Given the description of an element on the screen output the (x, y) to click on. 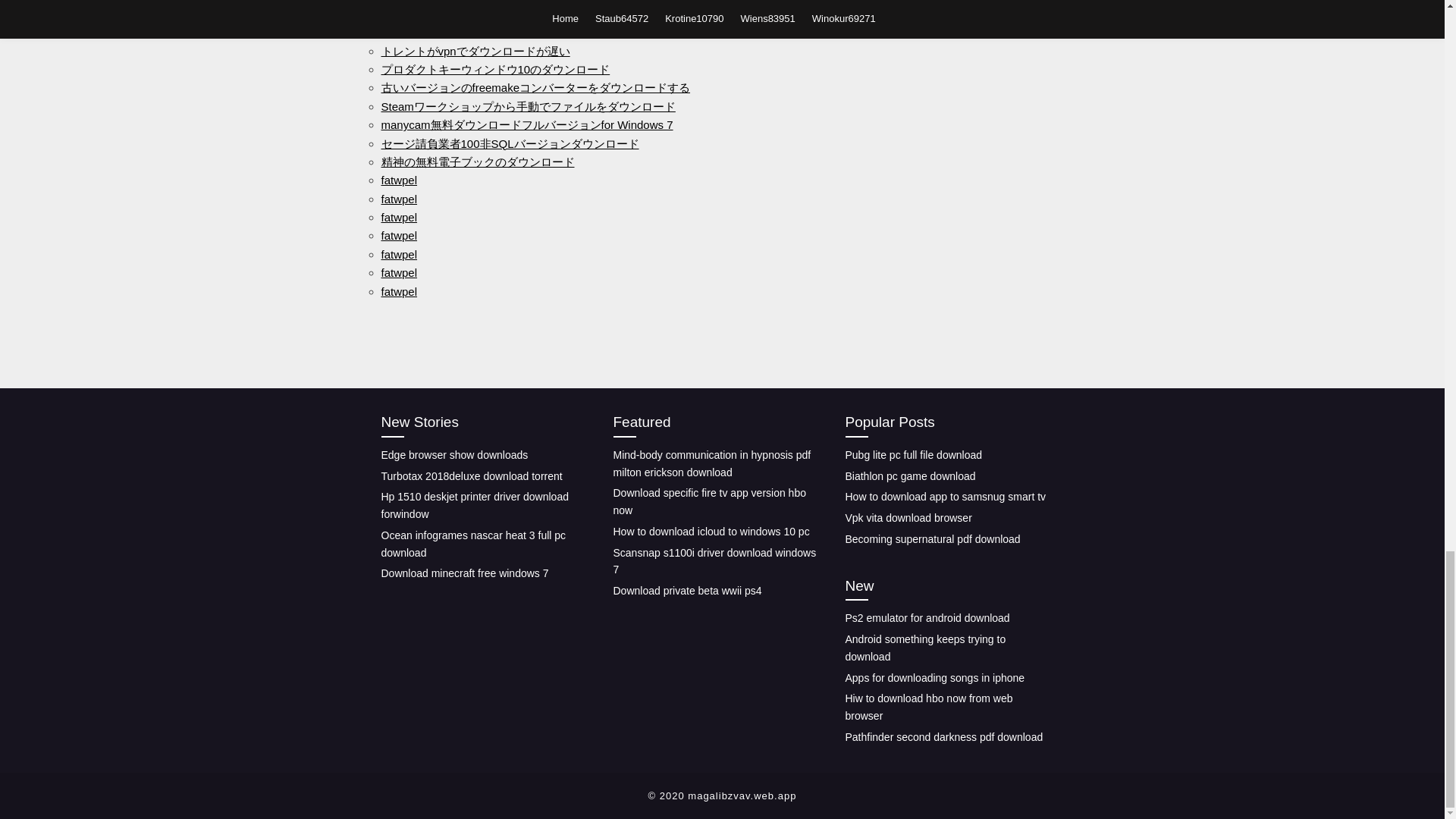
Ps2 emulator for android download (926, 617)
How to download app to samsnug smart tv (944, 496)
fatwpel (398, 272)
Vpk vita download browser (907, 517)
Ocean infogrames nascar heat 3 full pc download (473, 543)
Biathlon pc game download (909, 476)
Becoming supernatural pdf download (932, 539)
fatwpel (398, 179)
How to download icloud to windows 10 pc (710, 531)
